Given the description of an element on the screen output the (x, y) to click on. 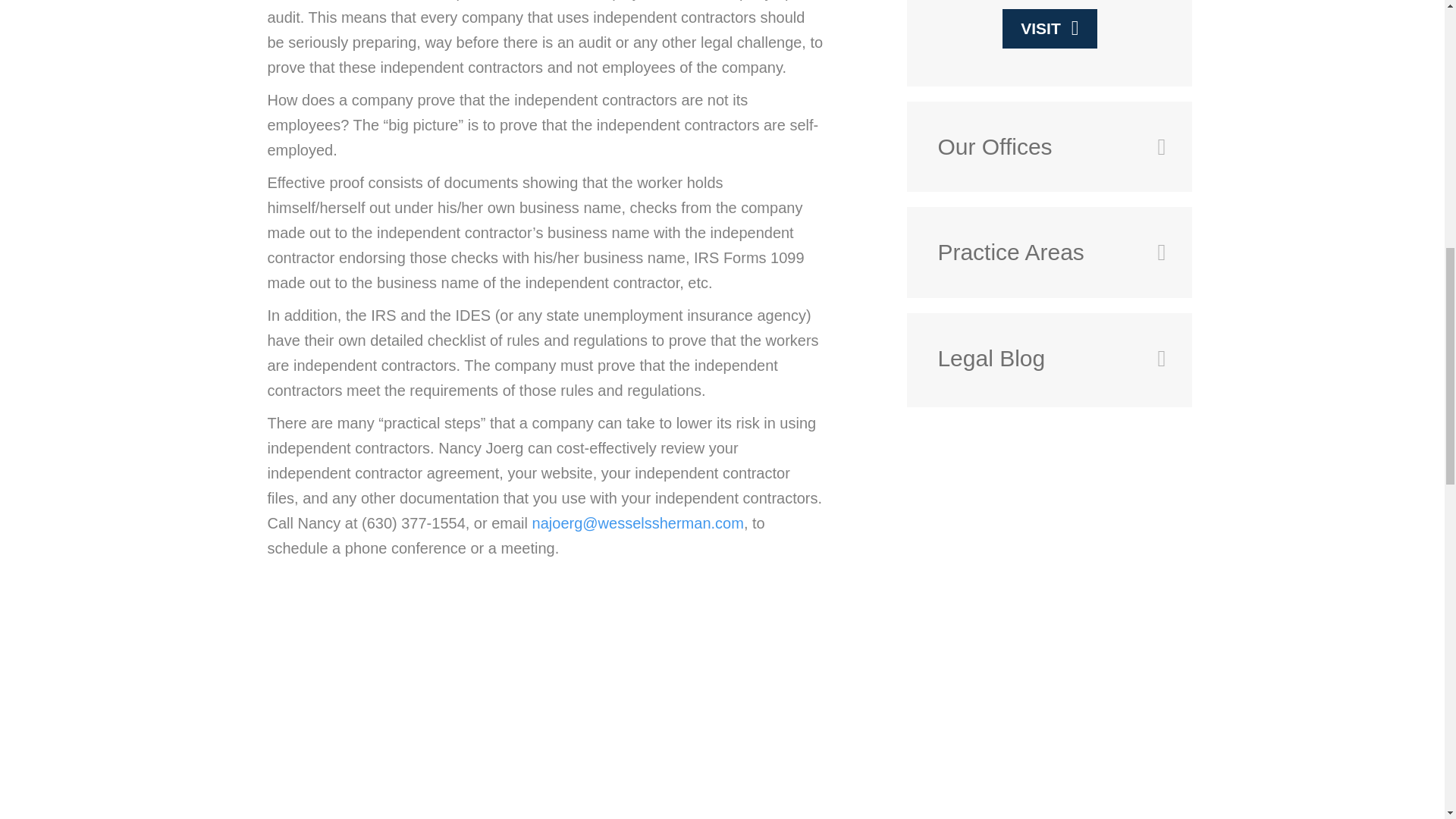
Legal Blog (1035, 358)
VISIT (1049, 28)
Practice Areas (1035, 252)
Our Offices (1035, 146)
